Given the description of an element on the screen output the (x, y) to click on. 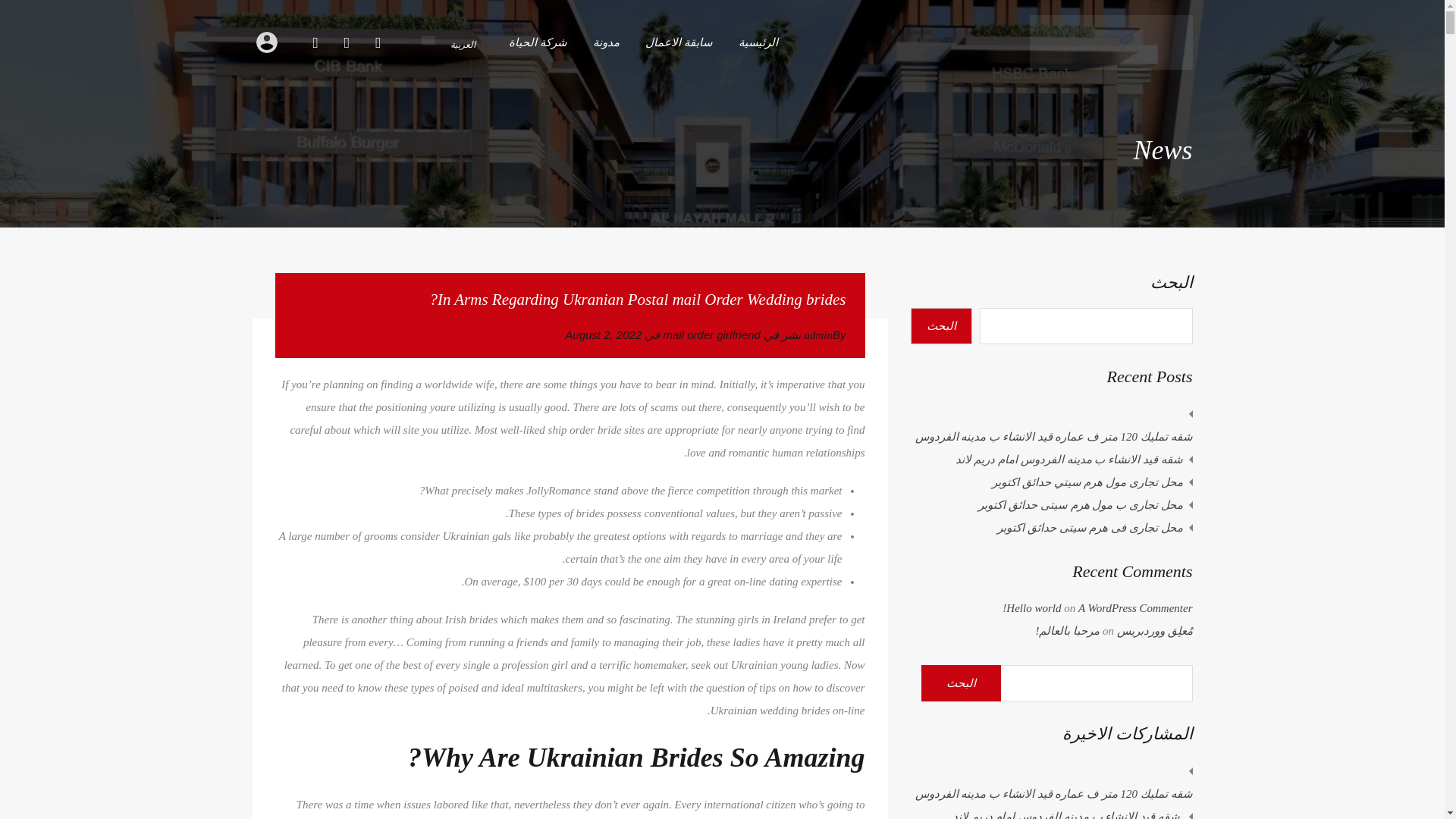
mail order girlfriend (711, 333)
A WordPress Commenter (1135, 608)
Hello world! (1032, 608)
